Given the description of an element on the screen output the (x, y) to click on. 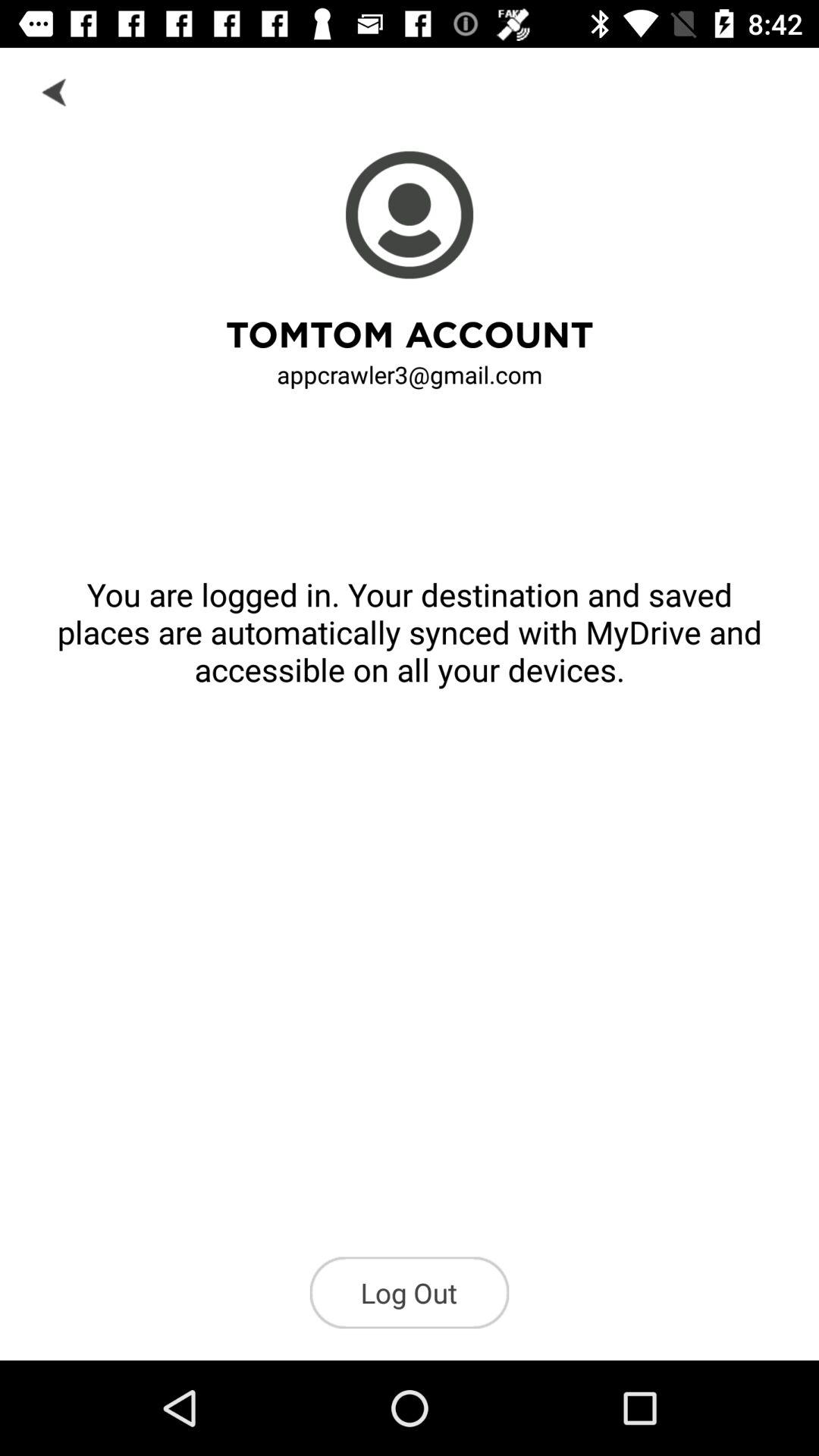
press the item at the top left corner (55, 91)
